Given the description of an element on the screen output the (x, y) to click on. 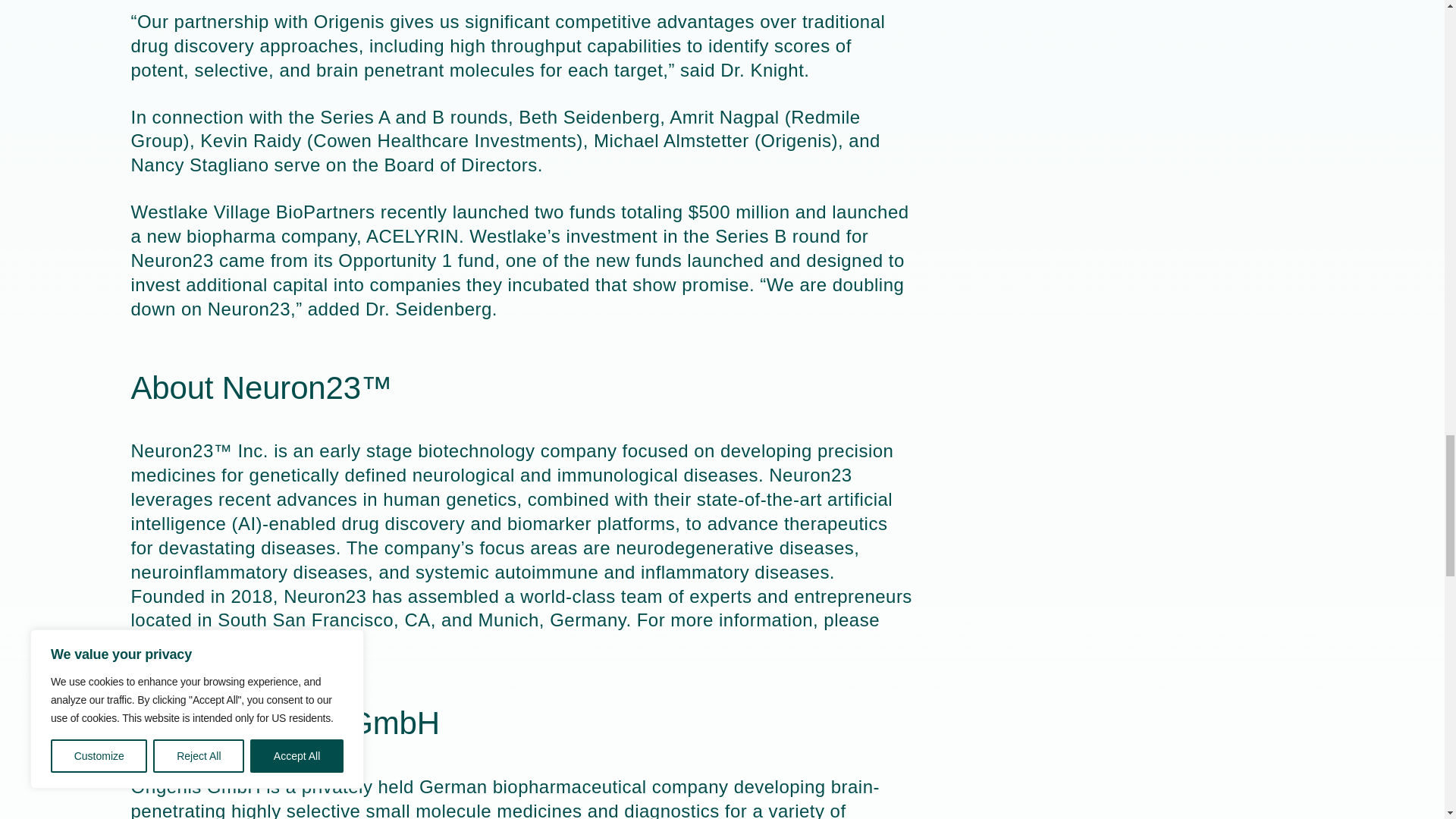
www.neuron23.com (251, 643)
